Given the description of an element on the screen output the (x, y) to click on. 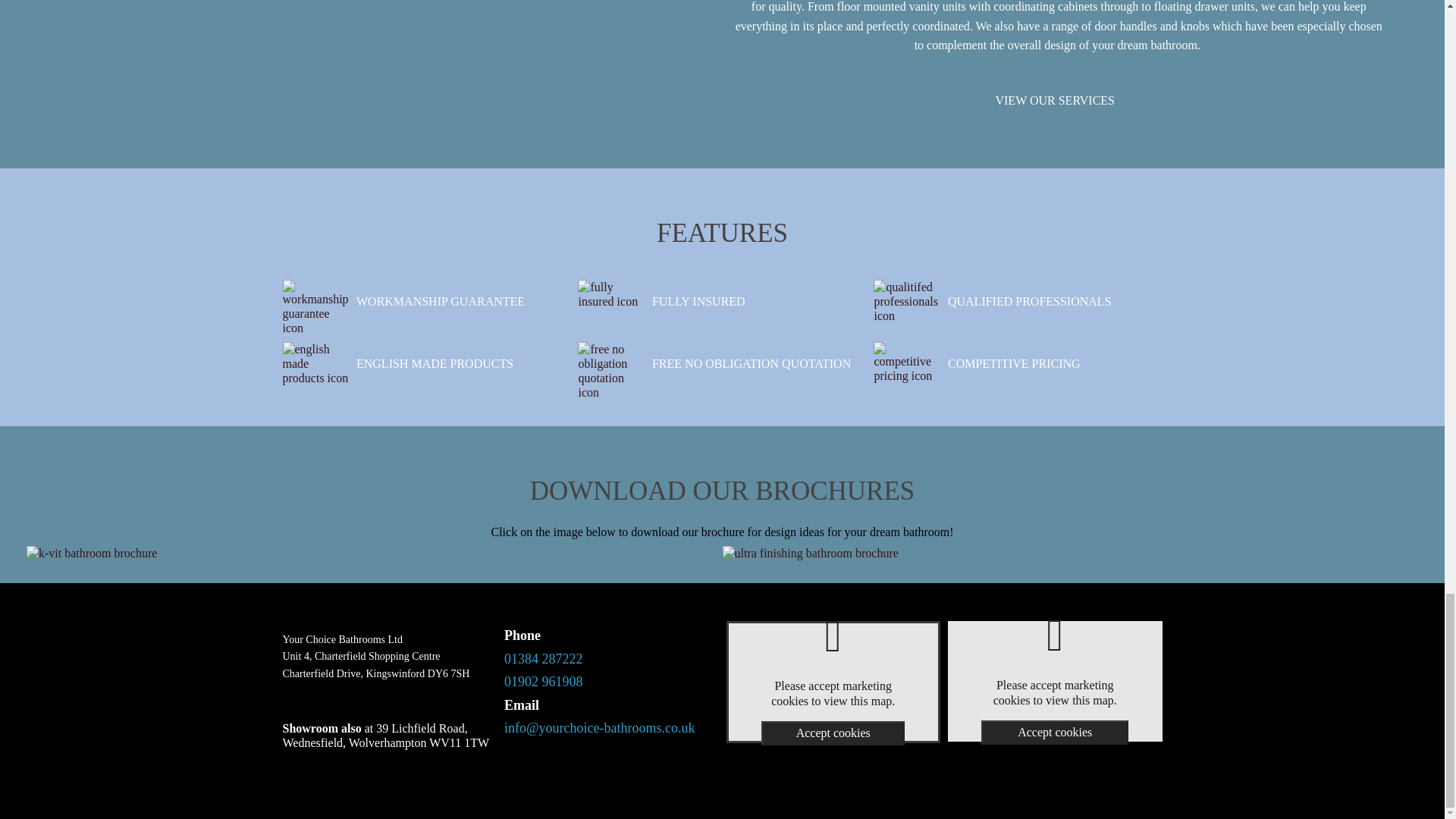
VIEW OUR SERVICES (1054, 100)
